Given the description of an element on the screen output the (x, y) to click on. 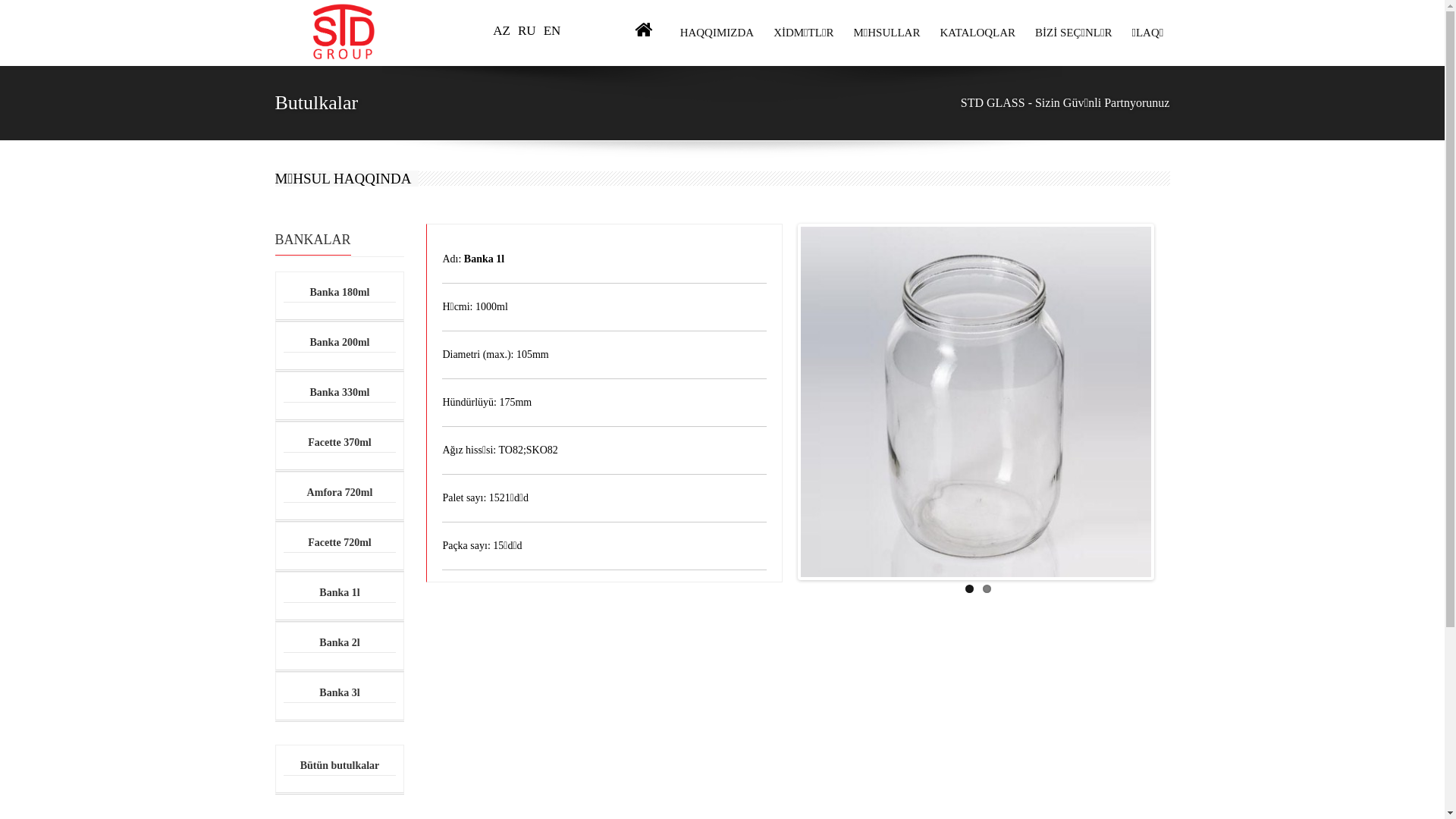
HAQQIMIZDA Element type: text (715, 32)
AZ Element type: text (501, 30)
Banka 1l Element type: text (340, 592)
Banka 180ml Element type: text (340, 292)
EN Element type: text (552, 30)
Facette 720ml Element type: text (340, 542)
Banka 330ml Element type: text (340, 392)
RU Element type: text (526, 30)
Banka 2l Element type: text (340, 642)
Banka 3l Element type: text (340, 692)
Amfora 720ml Element type: text (340, 492)
2 Element type: text (986, 588)
1 Element type: text (969, 588)
Facette 370ml Element type: text (340, 442)
Banka 200ml Element type: text (340, 342)
KATALOQLAR Element type: text (975, 32)
